Given the description of an element on the screen output the (x, y) to click on. 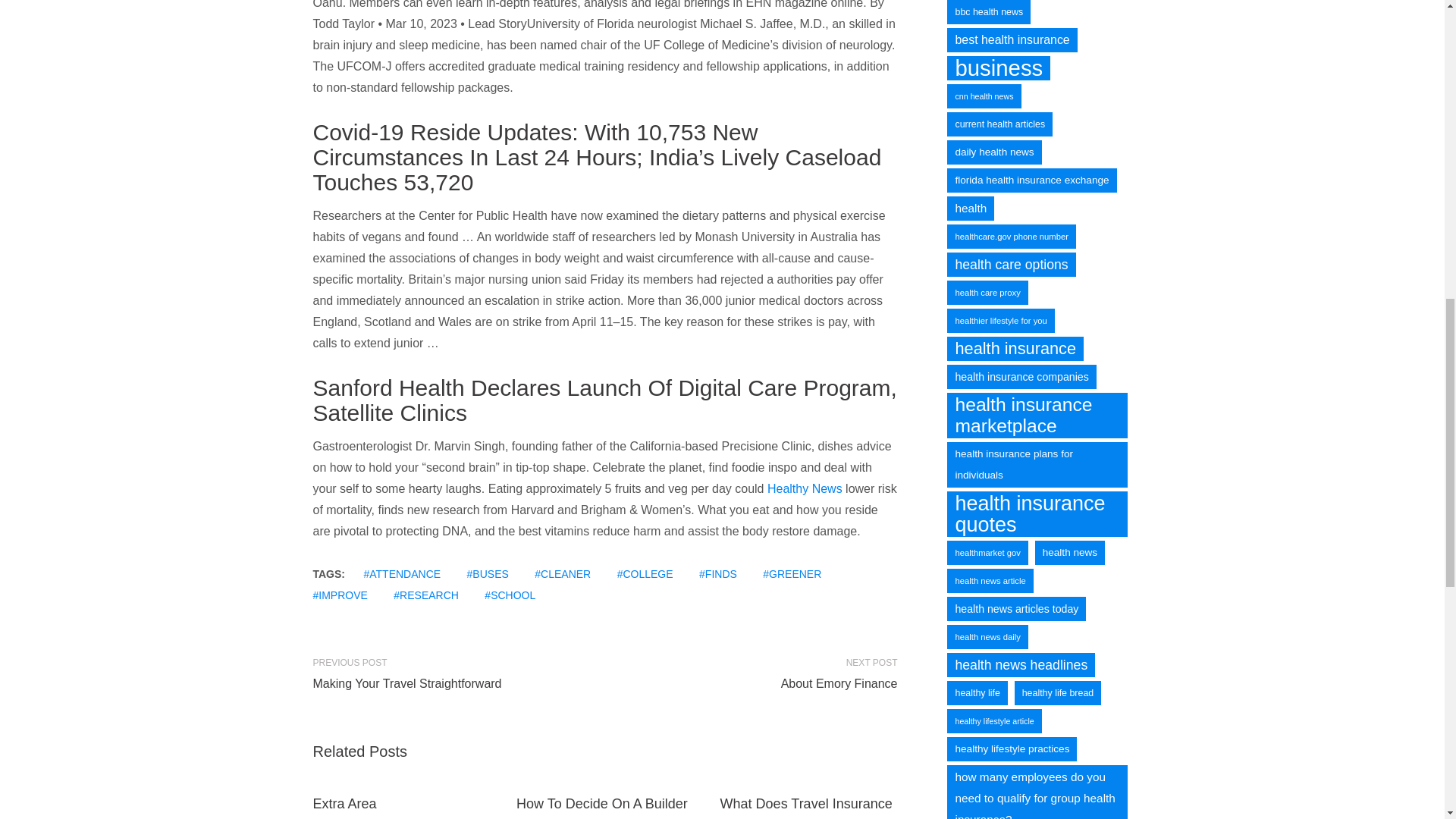
What Does Travel Insurance Cover? (806, 807)
Healthy News (805, 488)
Extra Area (344, 803)
Making Your Travel Straightforward (452, 683)
How To Decide On A Builder (601, 803)
About Emory Finance (756, 683)
